Given the description of an element on the screen output the (x, y) to click on. 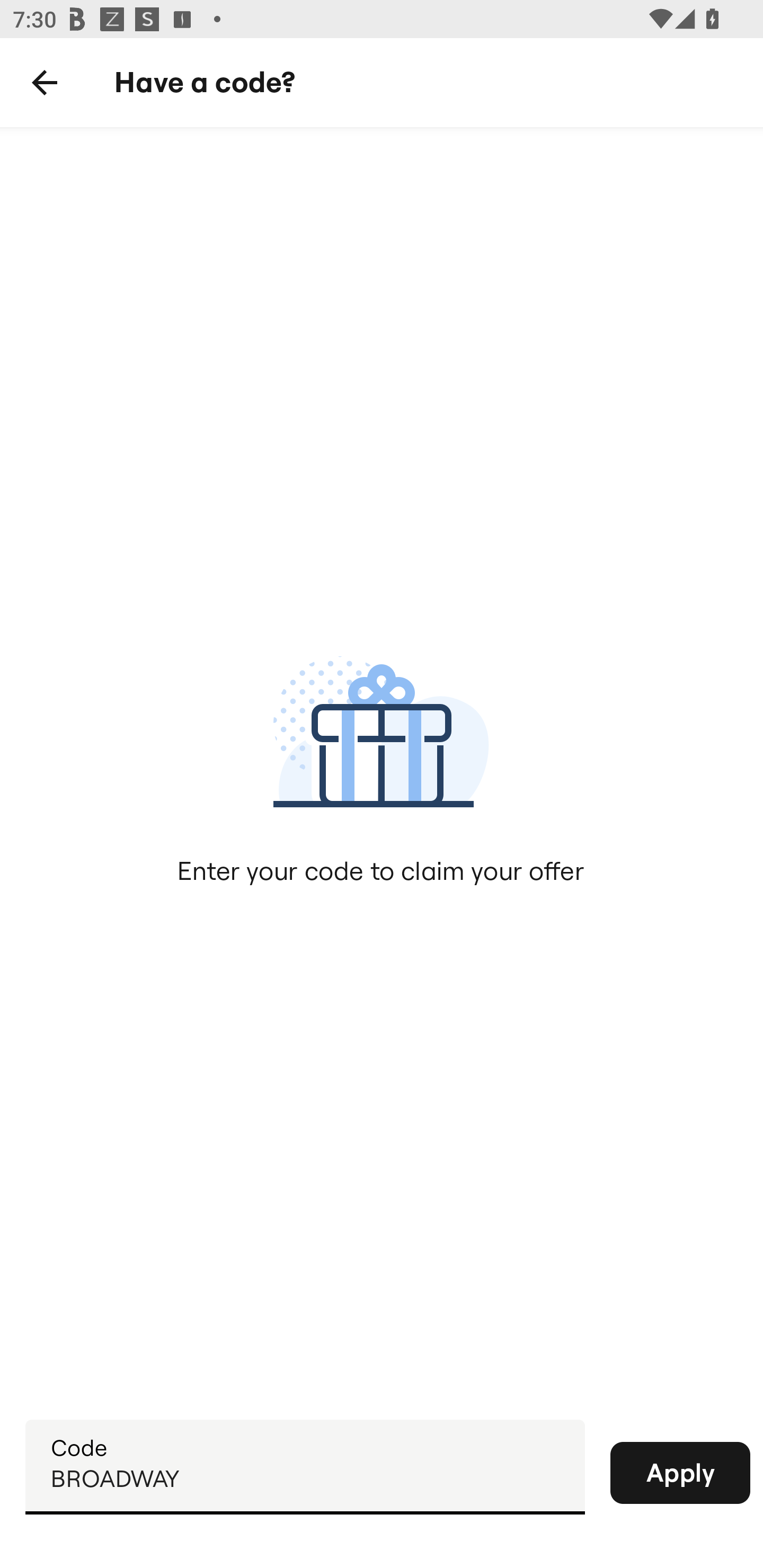
Back (44, 82)
BROADWAY (305, 1466)
Apply (680, 1473)
